Given the description of an element on the screen output the (x, y) to click on. 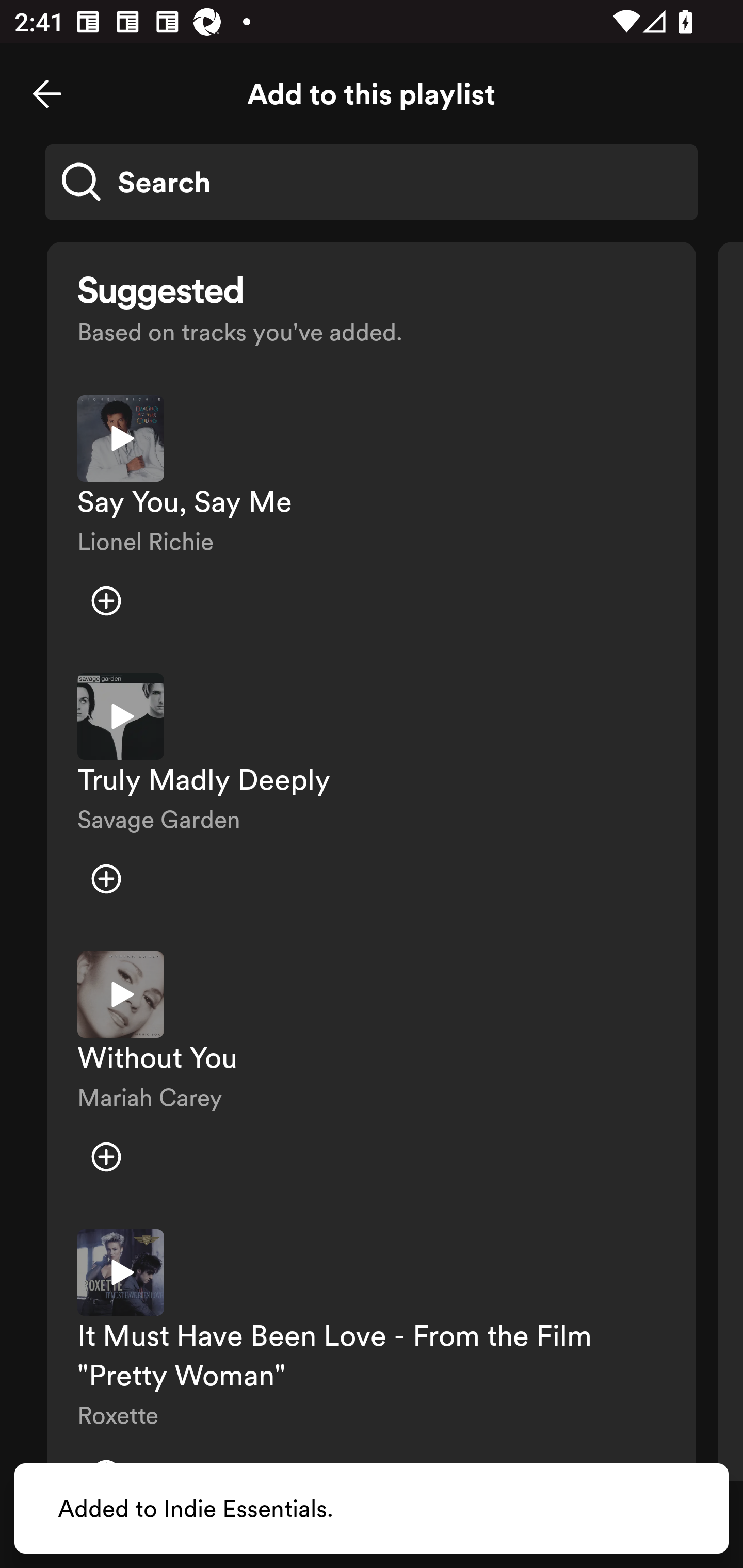
Close (46, 93)
Search (371, 181)
Play preview (120, 438)
Add item (106, 601)
Play preview (120, 716)
Add item (106, 878)
Play preview Without You Mariah Carey Add item (371, 1075)
Play preview (120, 994)
Add item (106, 1156)
Play preview (120, 1272)
